Given the description of an element on the screen output the (x, y) to click on. 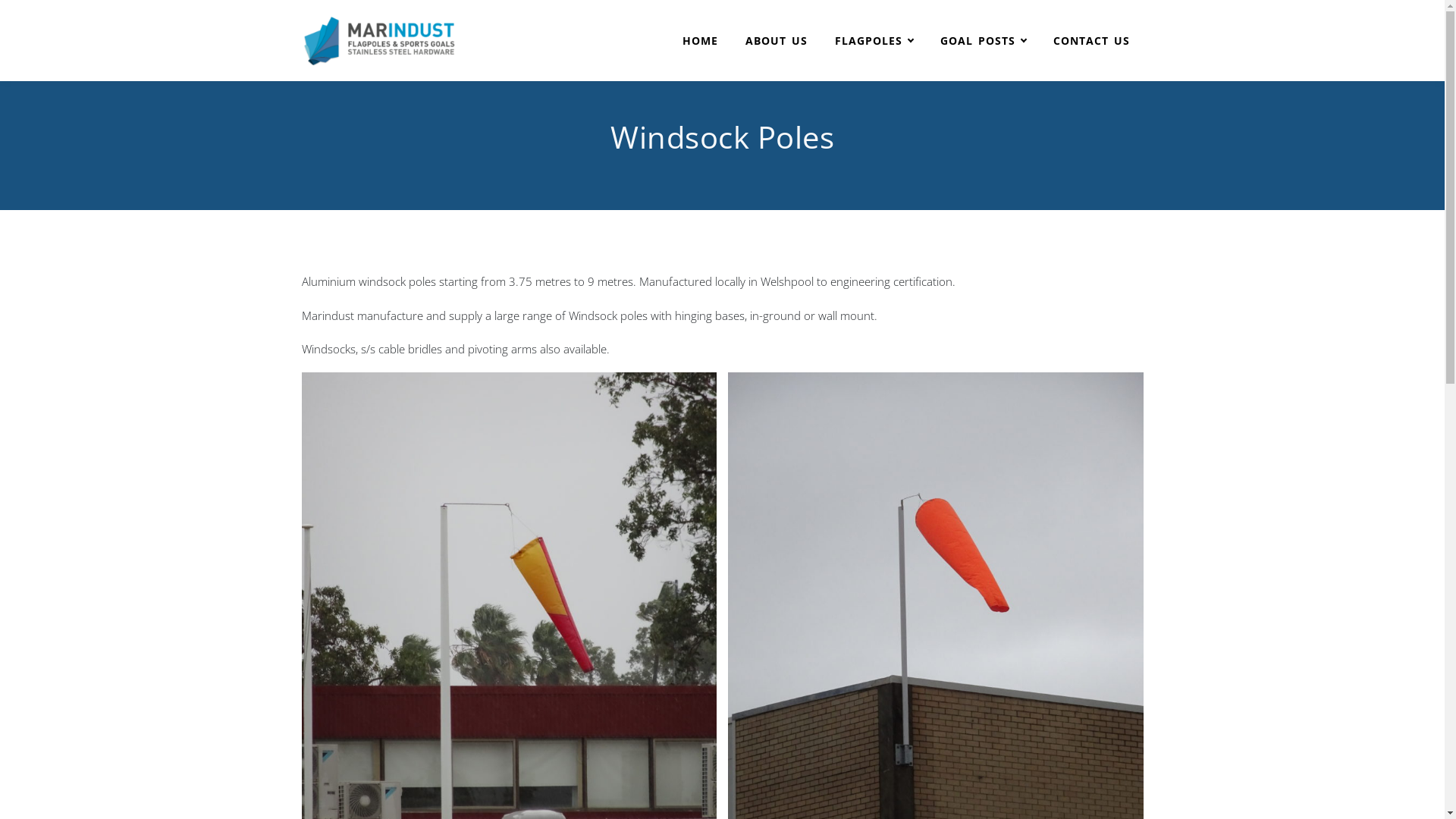
FLAGPOLES Element type: text (872, 40)
ABOUT US Element type: text (775, 40)
HOME Element type: text (699, 40)
GOAL POSTS Element type: text (982, 40)
CONTACT US Element type: text (1090, 40)
